Given the description of an element on the screen output the (x, y) to click on. 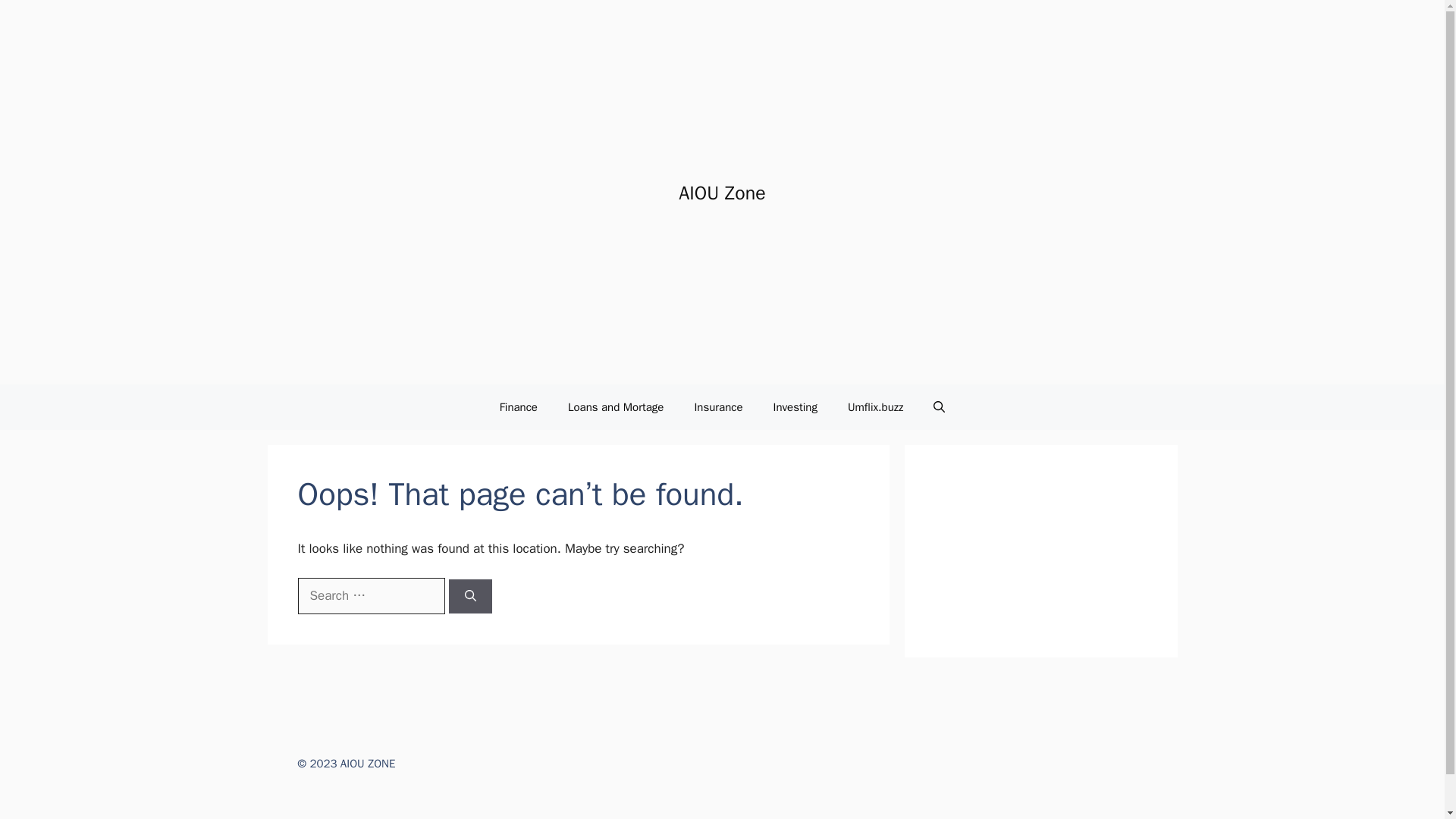
Search for: (370, 596)
Loans and Mortage (615, 406)
Insurance (717, 406)
Investing (795, 406)
AIOU Zone (721, 192)
Umflix.buzz (875, 406)
Finance (518, 406)
